Given the description of an element on the screen output the (x, y) to click on. 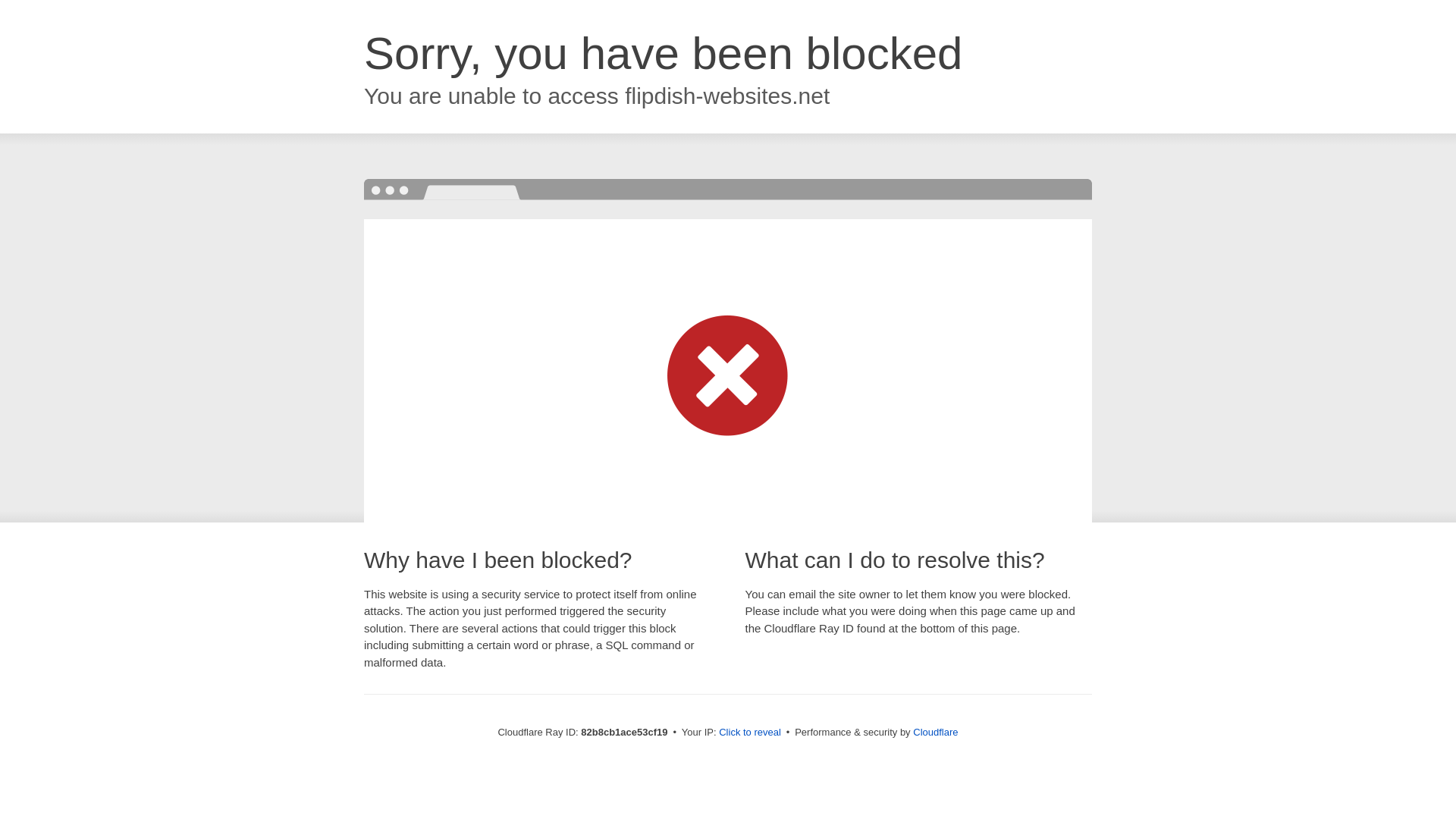
Click to reveal Element type: text (749, 732)
Cloudflare Element type: text (935, 731)
